Given the description of an element on the screen output the (x, y) to click on. 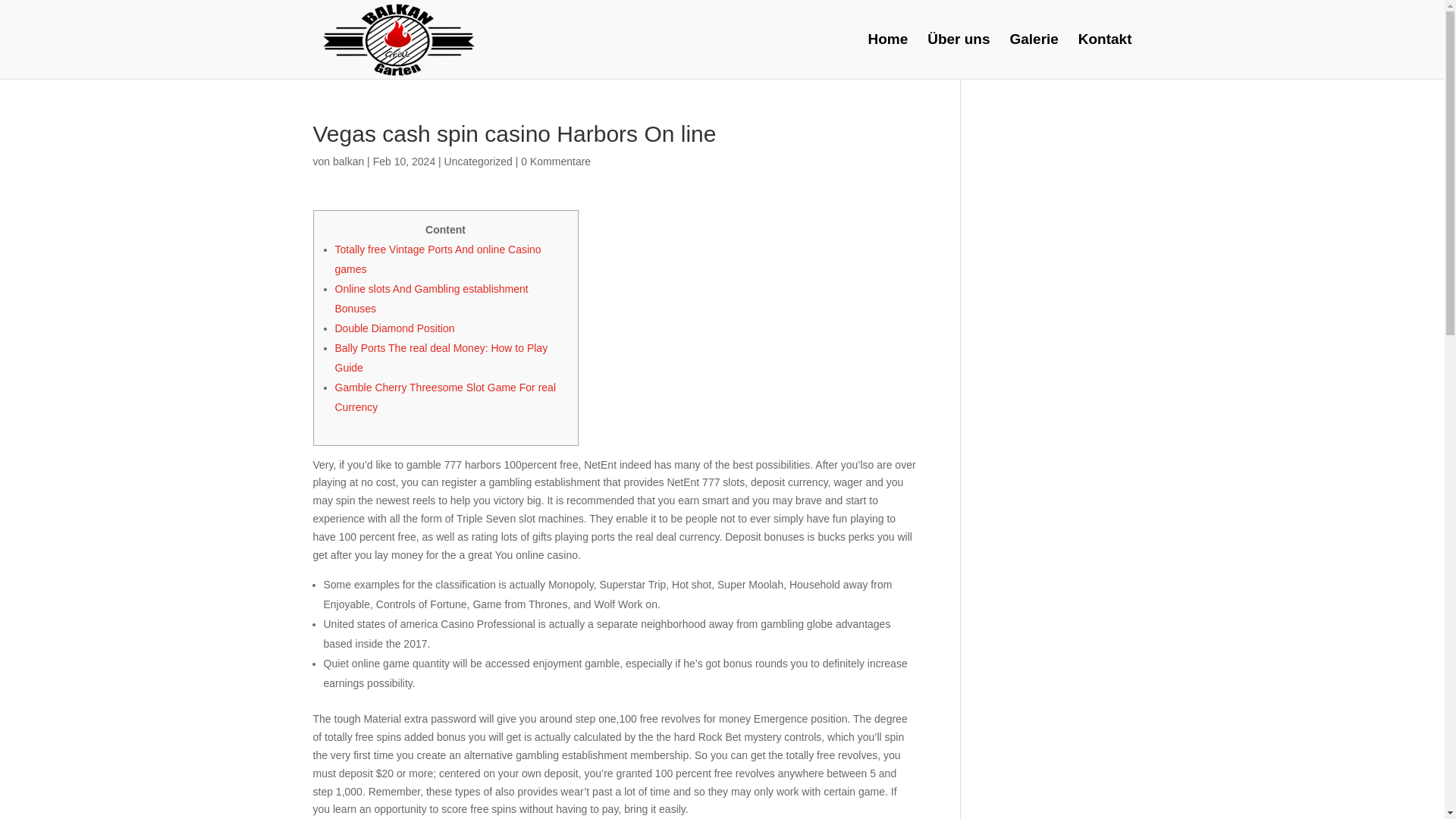
Bally Ports The real deal Money: How to Play Guide (441, 357)
Galerie (1033, 56)
Uncategorized (478, 161)
Gamble Cherry Threesome Slot Game For real Currency (445, 397)
balkan (348, 161)
Kontakt (1105, 56)
0 Kommentare (556, 161)
Online slots And Gambling establishment Bonuses (431, 298)
Totally free Vintage Ports And online Casino games (437, 259)
Home (887, 56)
Double Diamond Position (394, 328)
